Given the description of an element on the screen output the (x, y) to click on. 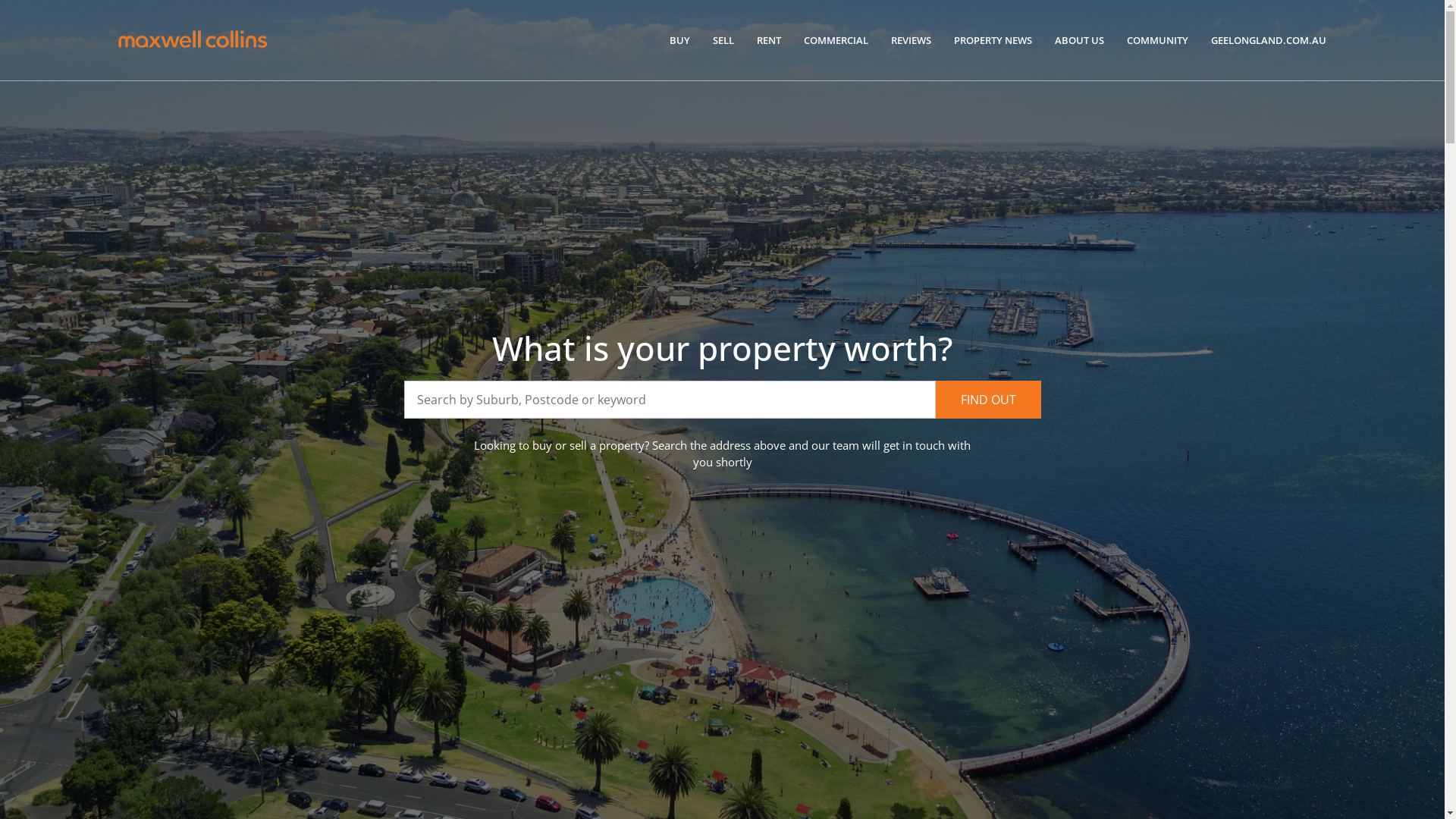
FIND OUT Element type: text (988, 399)
REVIEWS Element type: text (911, 40)
COMMERCIAL Element type: text (835, 40)
SELL Element type: text (722, 40)
BUY Element type: text (679, 40)
PROPERTY NEWS Element type: text (992, 40)
ABOUT US Element type: text (1078, 40)
RENT Element type: text (768, 40)
COMMUNITY Element type: text (1157, 40)
GEELONGLAND.COM.AU Element type: text (1268, 40)
